Given the description of an element on the screen output the (x, y) to click on. 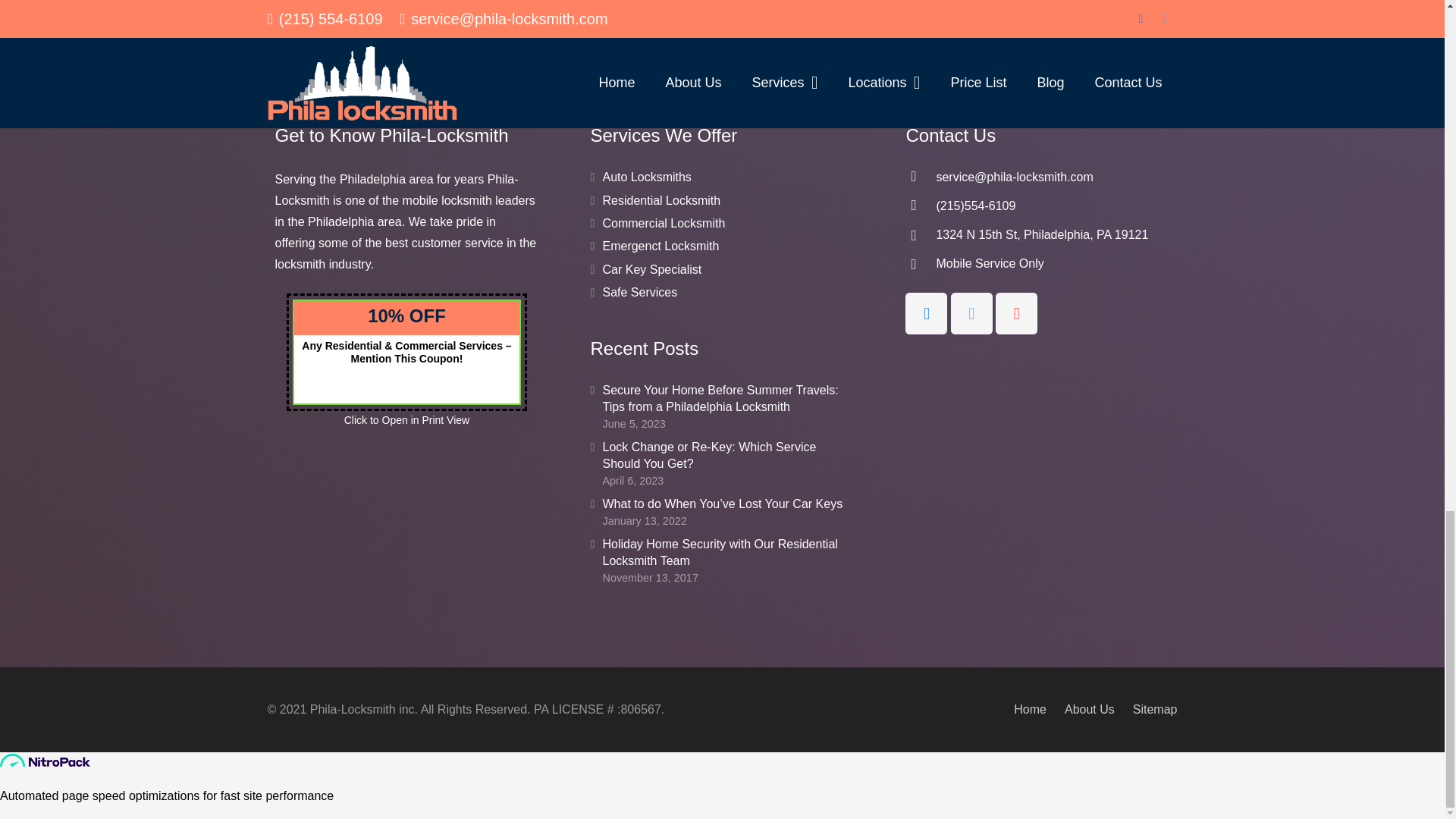
Twitter (971, 313)
Google (1015, 313)
Facebook (926, 313)
